Given the description of an element on the screen output the (x, y) to click on. 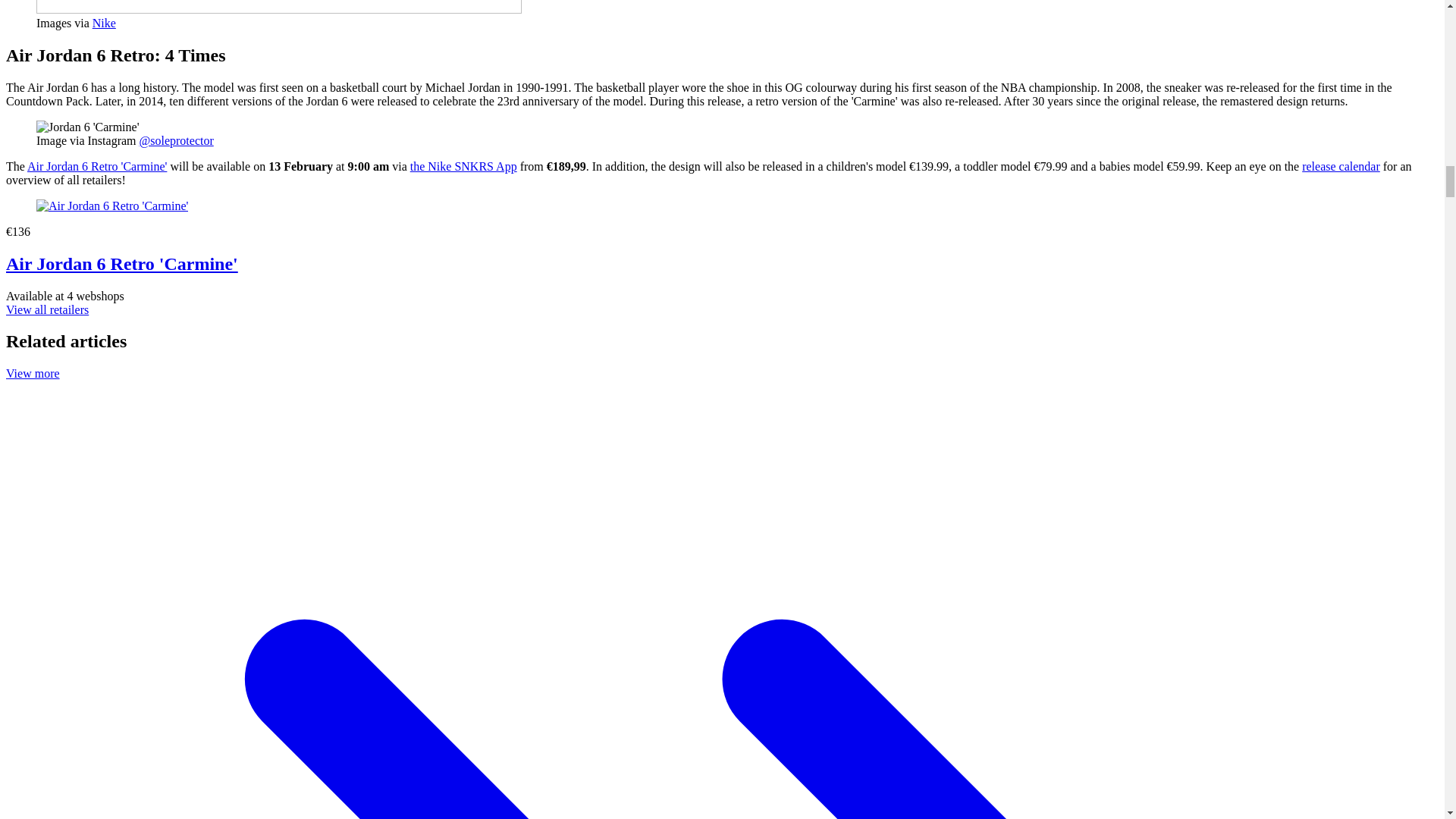
Air Jordan 6 Retro 'Carmine' (97, 165)
View all retailers (46, 309)
Nike (104, 22)
the Nike SNKRS App (463, 165)
release calendar (1340, 165)
